Given the description of an element on the screen output the (x, y) to click on. 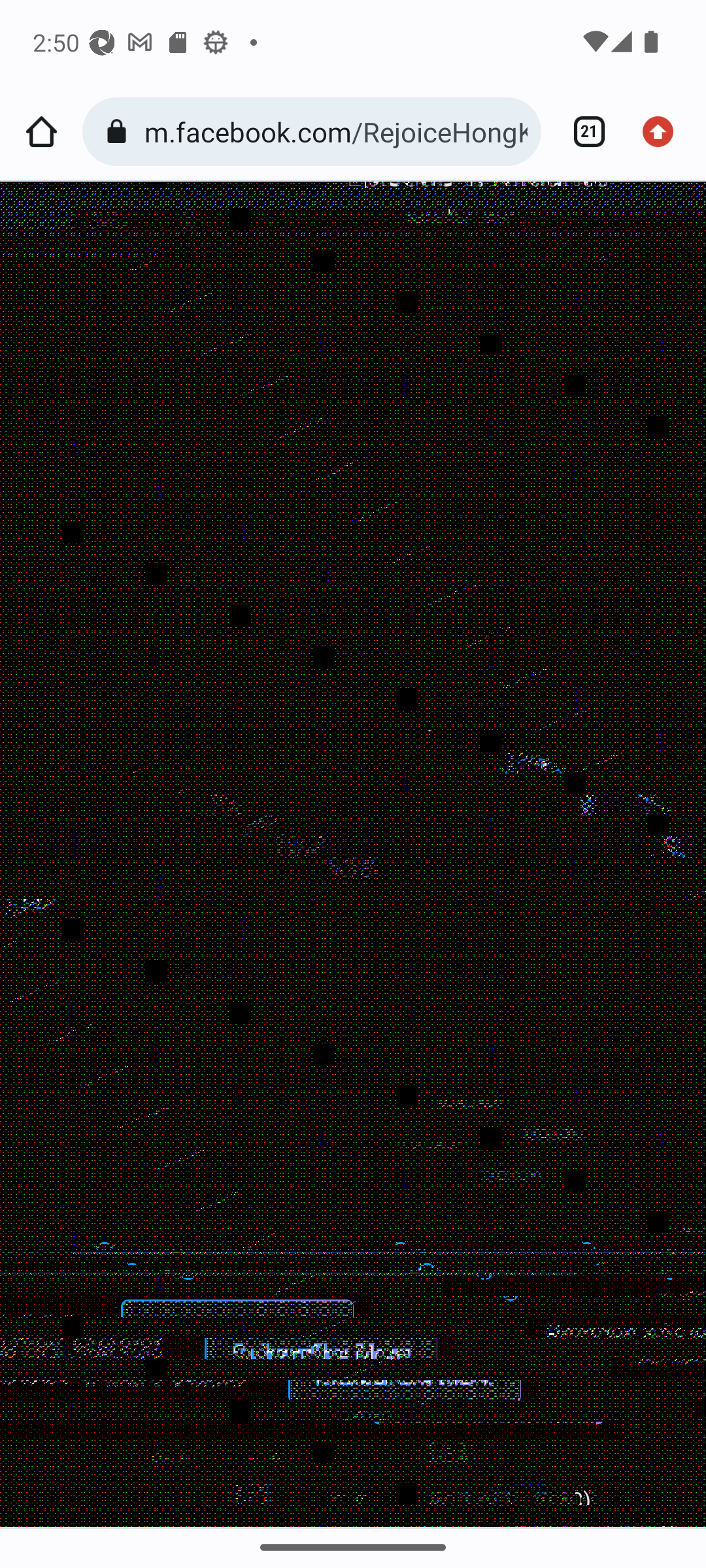
Home (41, 131)
Connection is secure (120, 131)
Switch or close tabs (582, 131)
Update available. More options (664, 131)
m.facebook.com/RejoiceHongKong (335, 131)
